Given the description of an element on the screen output the (x, y) to click on. 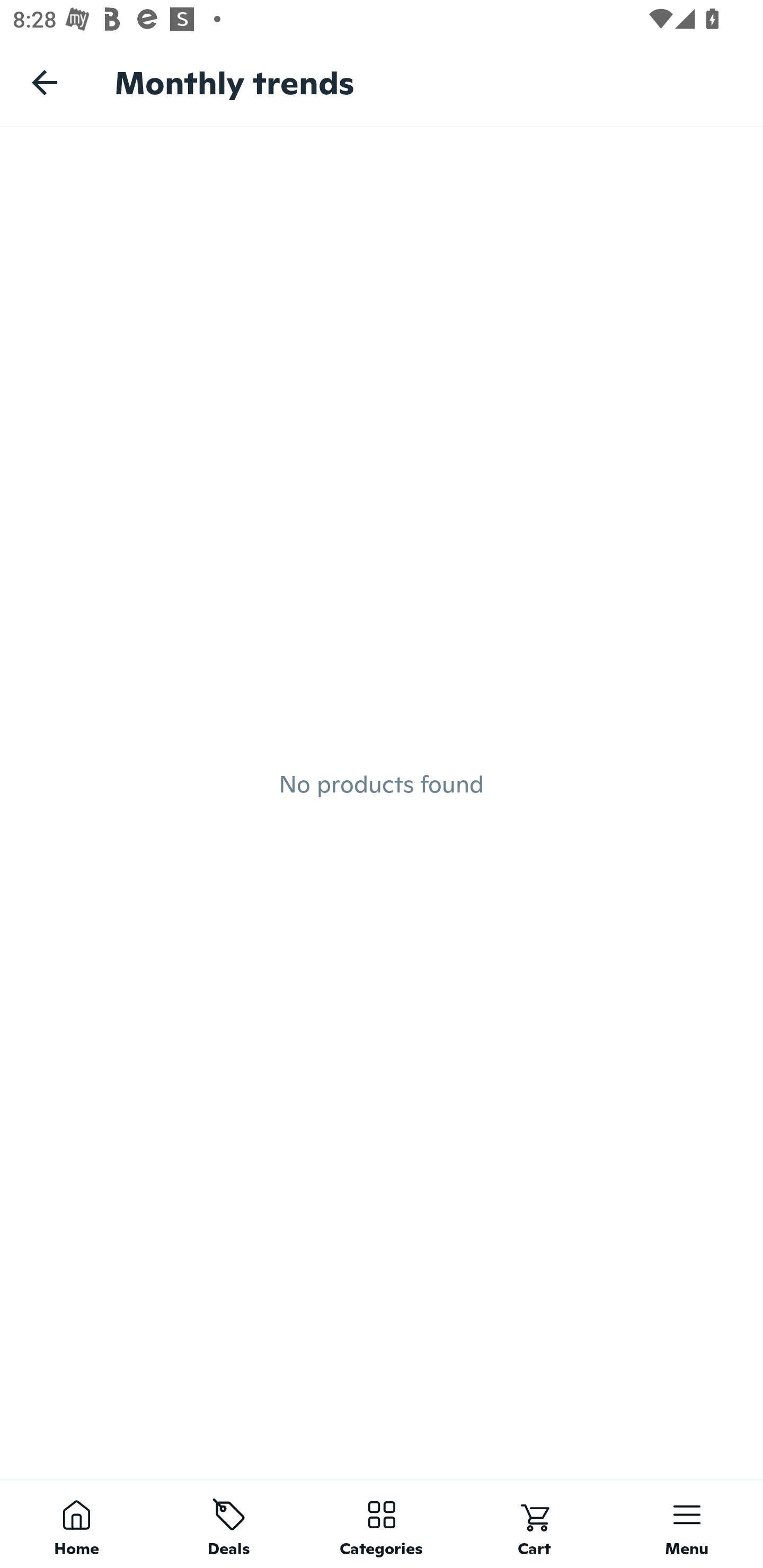
Navigate up (44, 82)
Home (76, 1523)
Deals (228, 1523)
Categories (381, 1523)
Cart (533, 1523)
Menu (686, 1523)
